Given the description of an element on the screen output the (x, y) to click on. 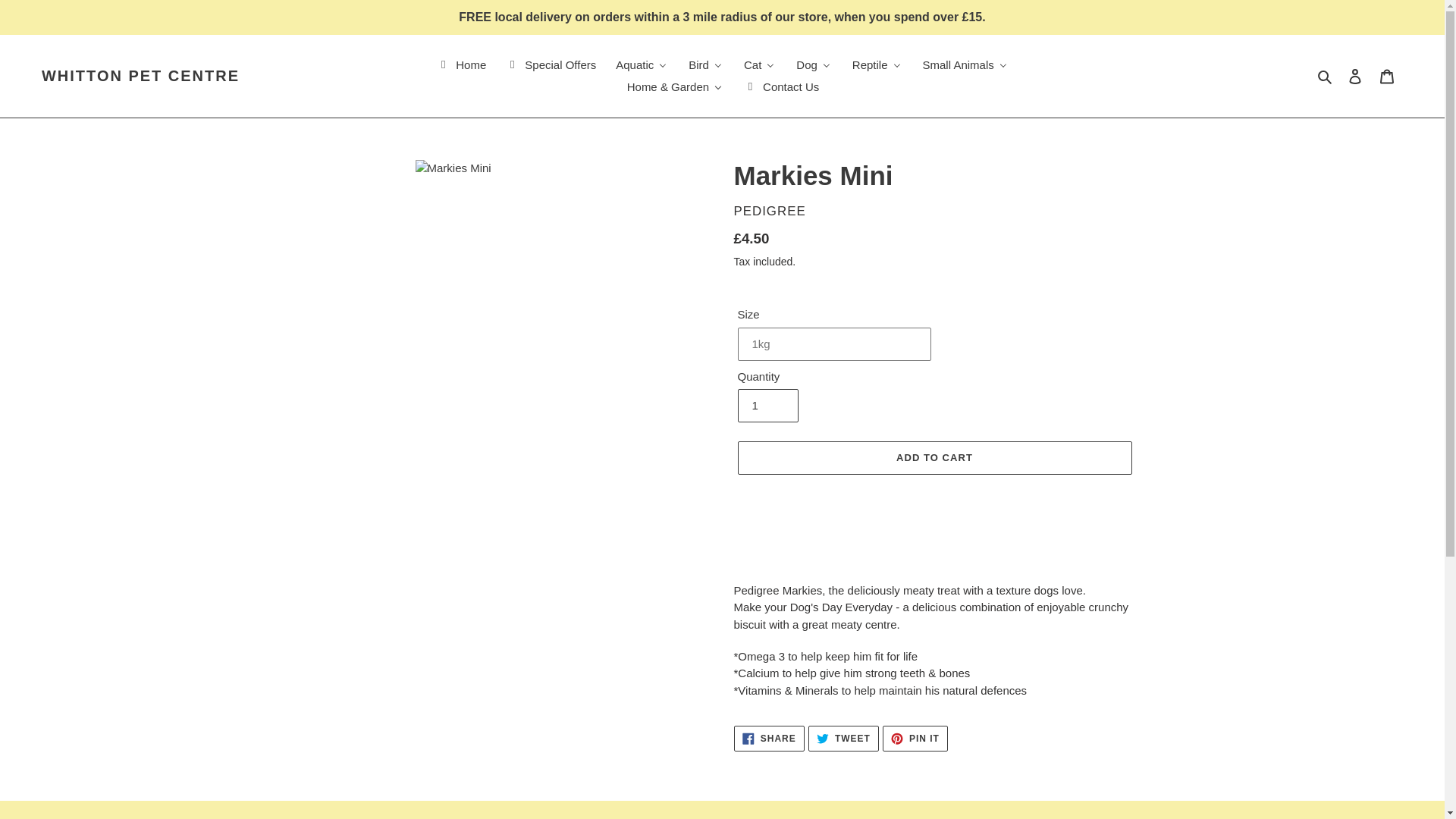
Aquatic (641, 65)
WHITTON PET CENTRE (141, 75)
1 (766, 405)
Home (460, 65)
Special Offers (550, 65)
Bird (705, 65)
